Given the description of an element on the screen output the (x, y) to click on. 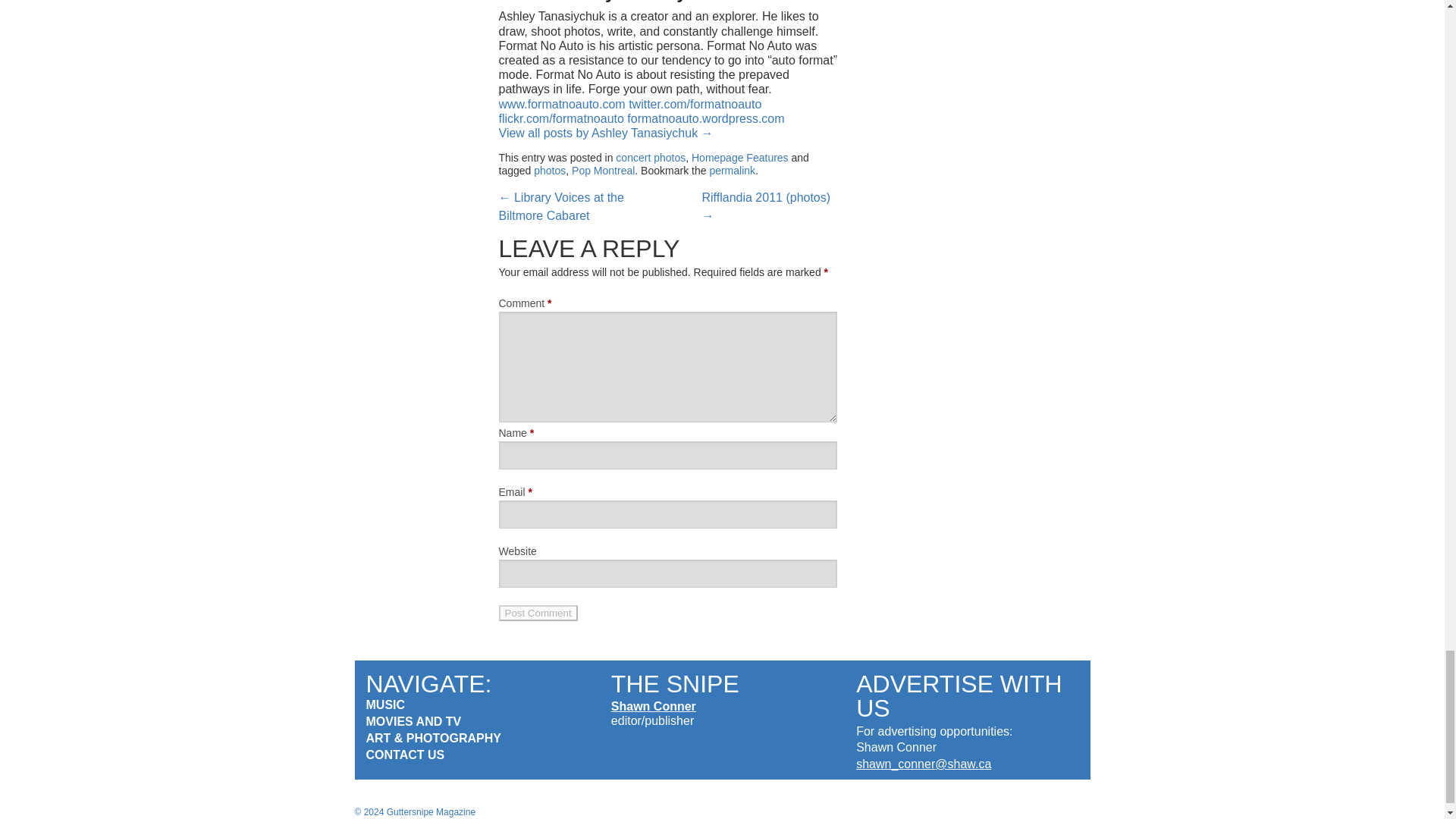
Post Comment (538, 612)
